Given the description of an element on the screen output the (x, y) to click on. 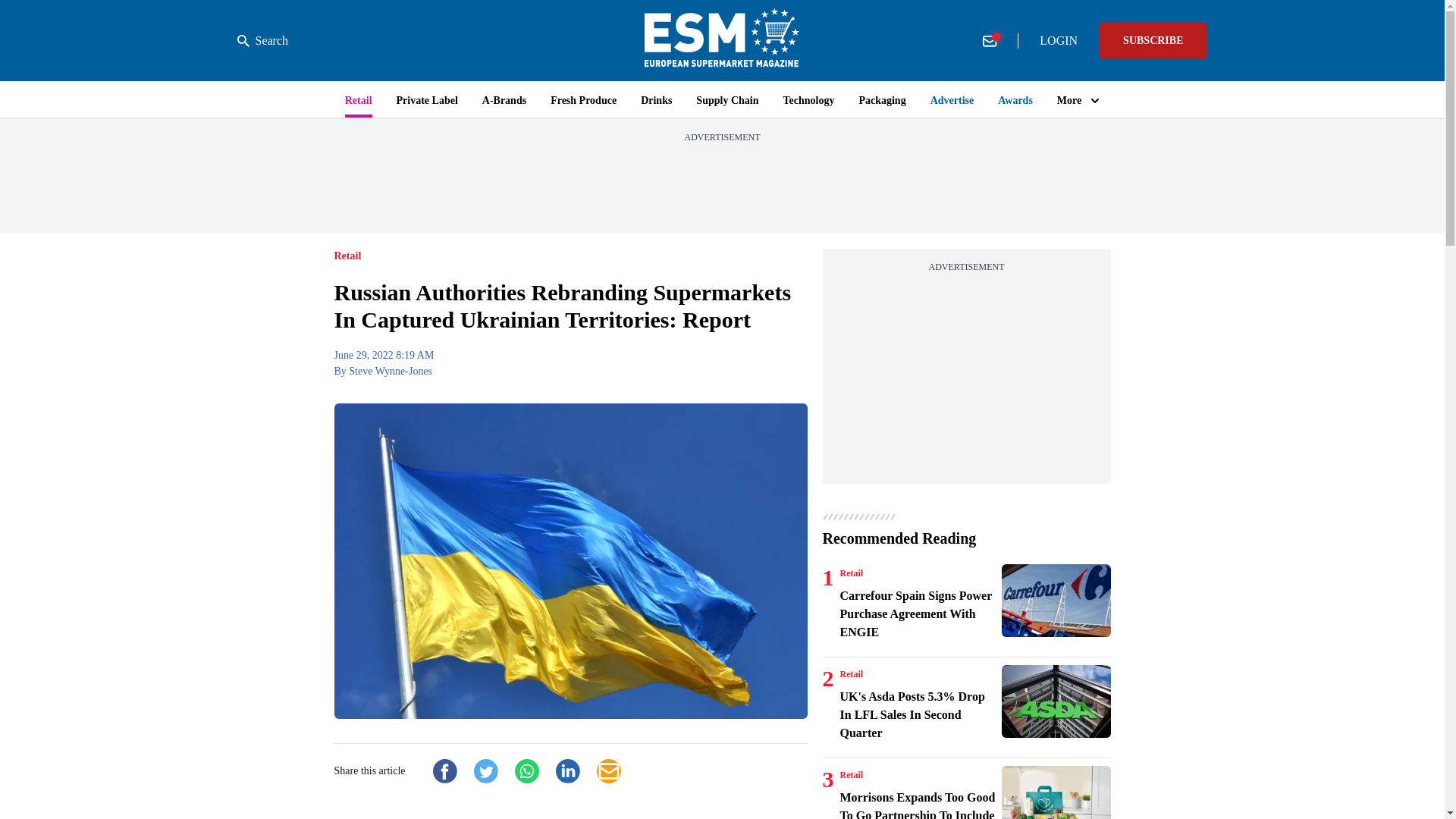
Retail (851, 674)
Retail (851, 573)
ESM (722, 40)
Retail (851, 775)
Carrefour Spain Signs Power Purchase Agreement With ENGIE (1055, 600)
Search (261, 40)
Carrefour Spain Signs Power Purchase Agreement With ENGIE (917, 614)
